Given the description of an element on the screen output the (x, y) to click on. 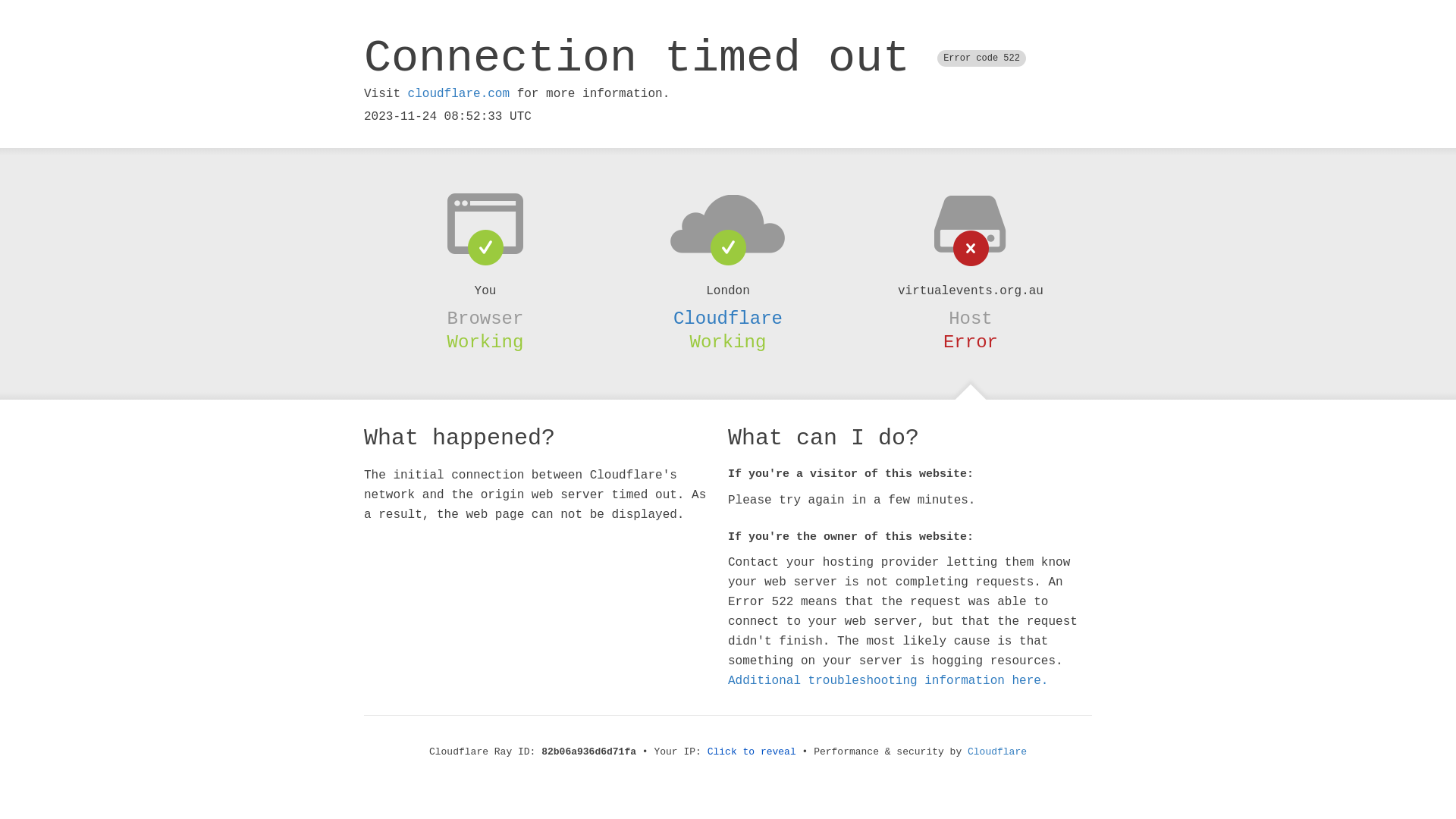
Cloudflare Element type: text (996, 751)
Cloudflare Element type: text (727, 318)
Click to reveal Element type: text (751, 751)
cloudflare.com Element type: text (458, 93)
Additional troubleshooting information here. Element type: text (888, 680)
